Given the description of an element on the screen output the (x, y) to click on. 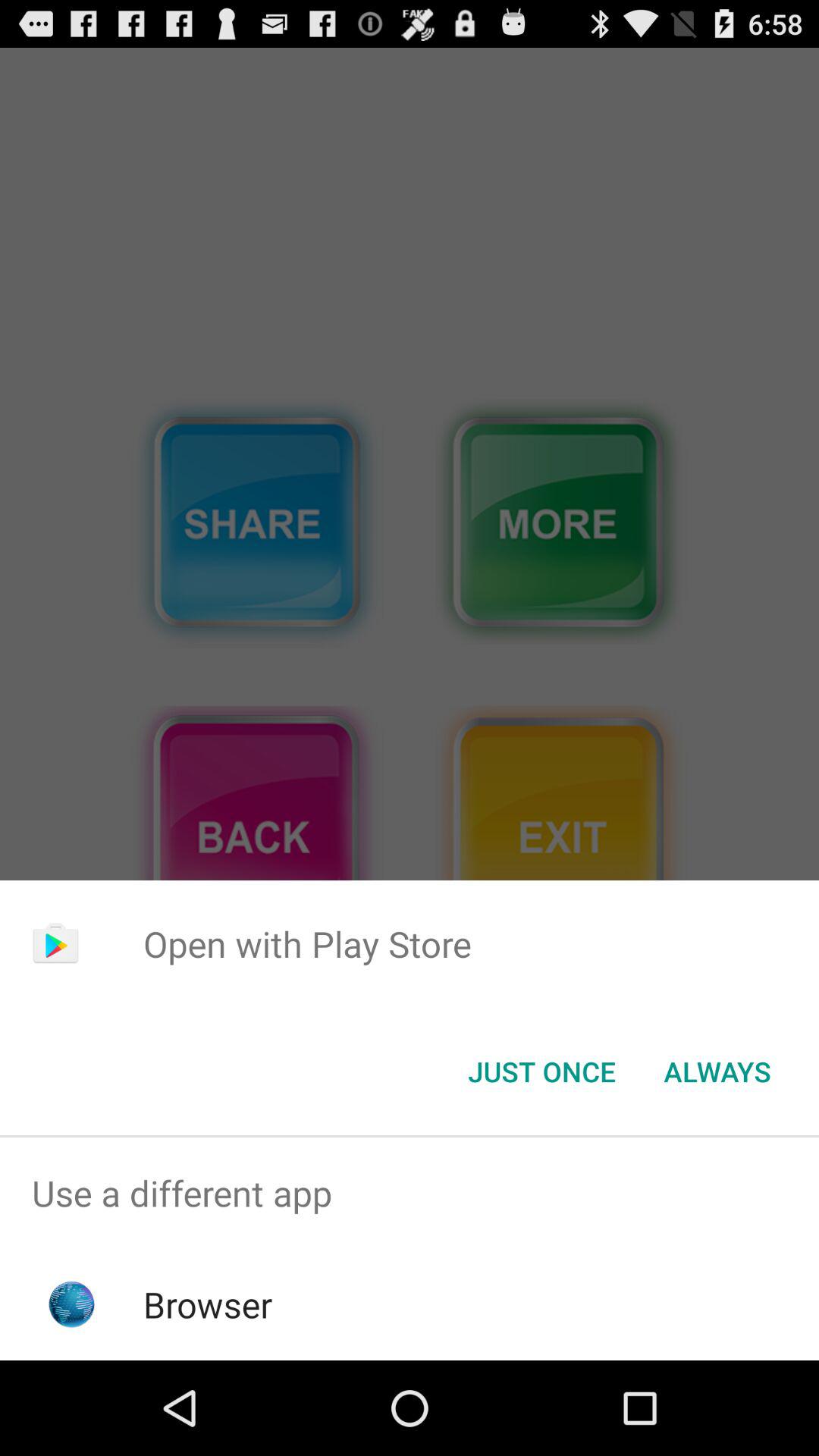
turn on the icon below open with play icon (541, 1071)
